Given the description of an element on the screen output the (x, y) to click on. 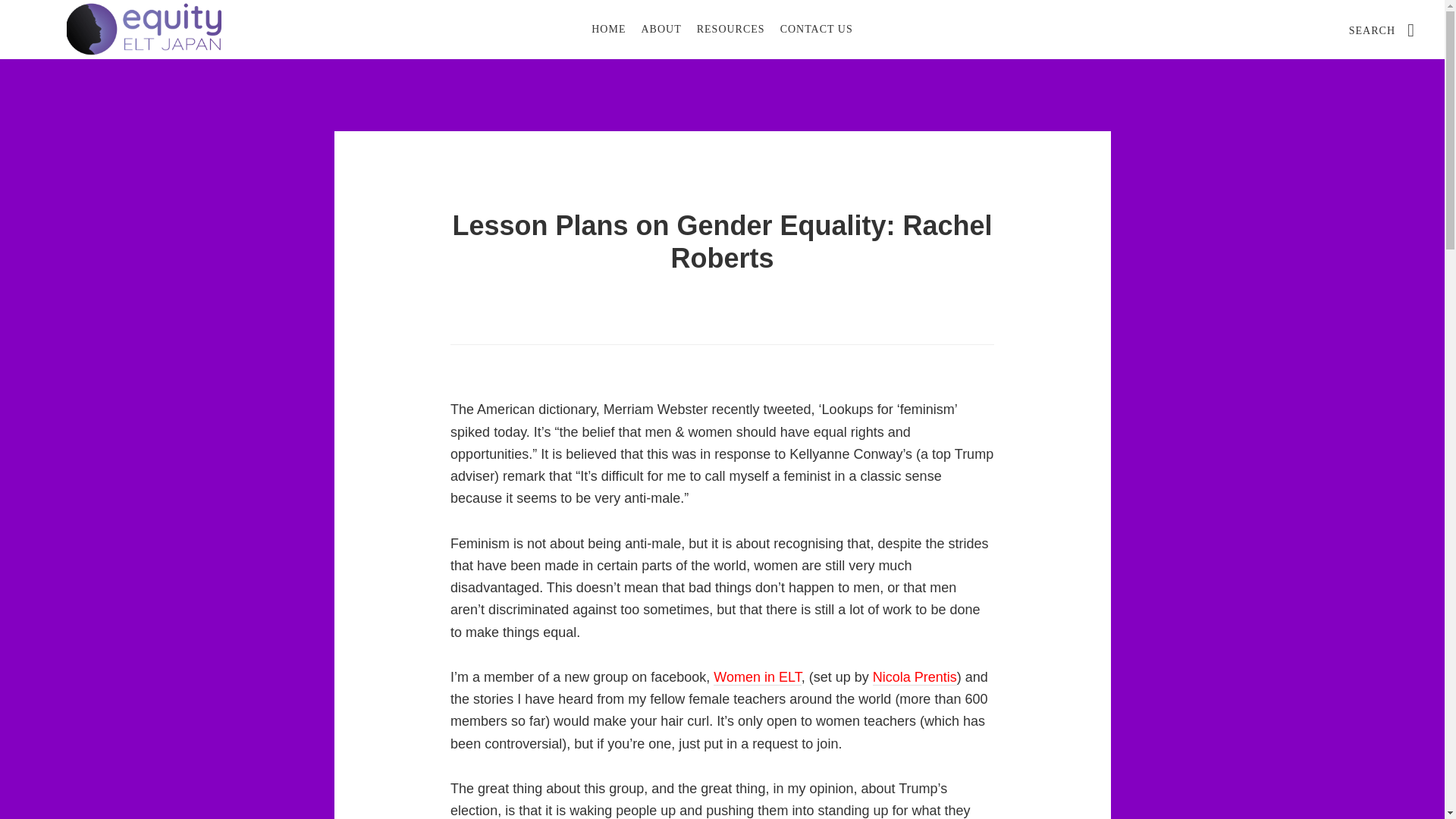
CONTACT US (816, 29)
Women in ELT (756, 677)
RESOURCES (730, 29)
GENDER EQUITY: ELT IN JAPAN (143, 28)
HOME (608, 29)
ABOUT (660, 29)
Nicola Prentis (914, 677)
